Given the description of an element on the screen output the (x, y) to click on. 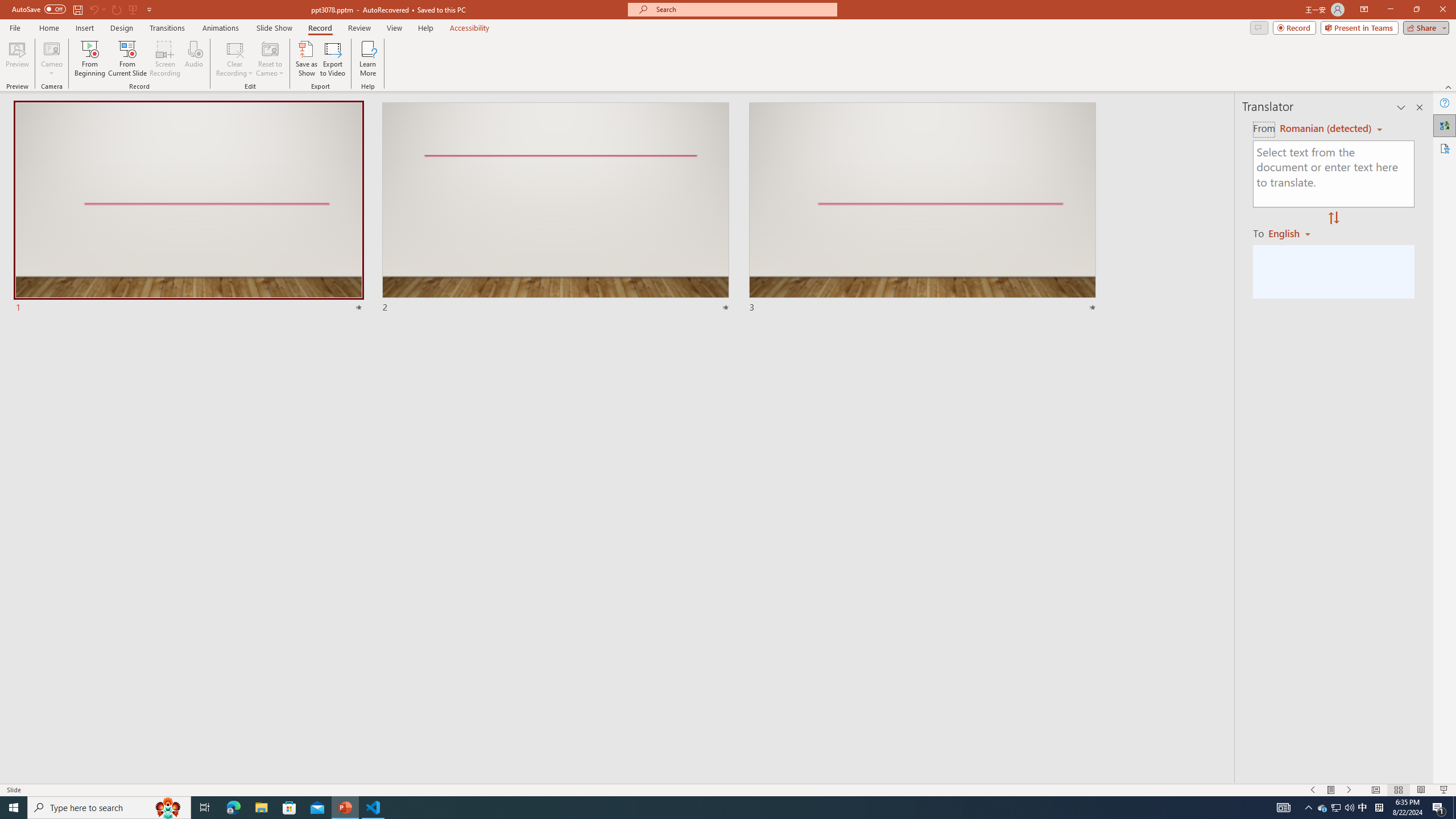
Audio (193, 58)
Reset to Cameo (269, 58)
Slide Show Next On (1349, 790)
